Given the description of an element on the screen output the (x, y) to click on. 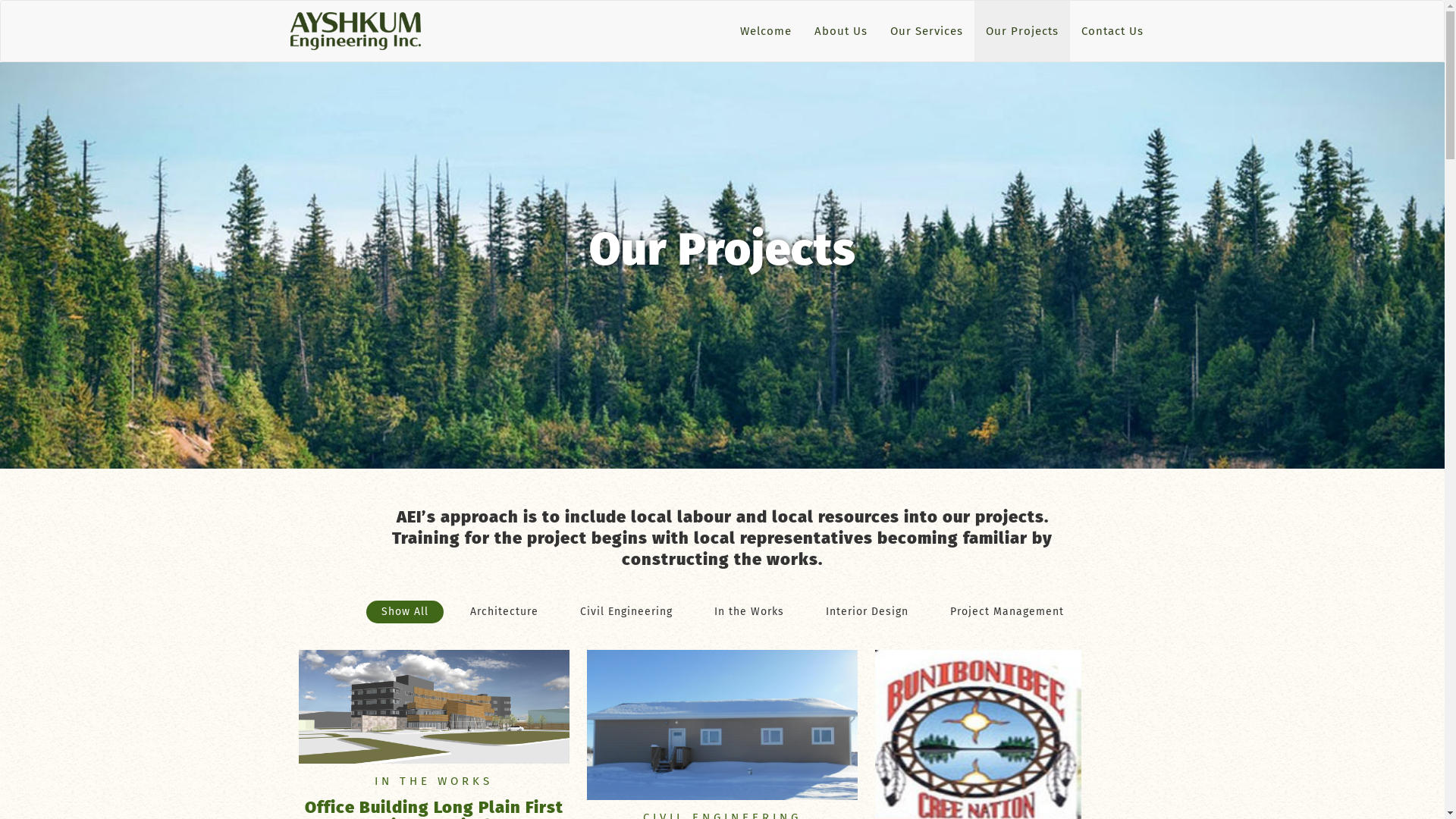
Contact Us Element type: text (1111, 30)
Welcome Element type: text (765, 30)
Our Projects Element type: text (1021, 30)
About Us Element type: text (840, 30)
Our Services Element type: text (925, 30)
Ayshkum Engineering Inc. Element type: hover (356, 30)
